Given the description of an element on the screen output the (x, y) to click on. 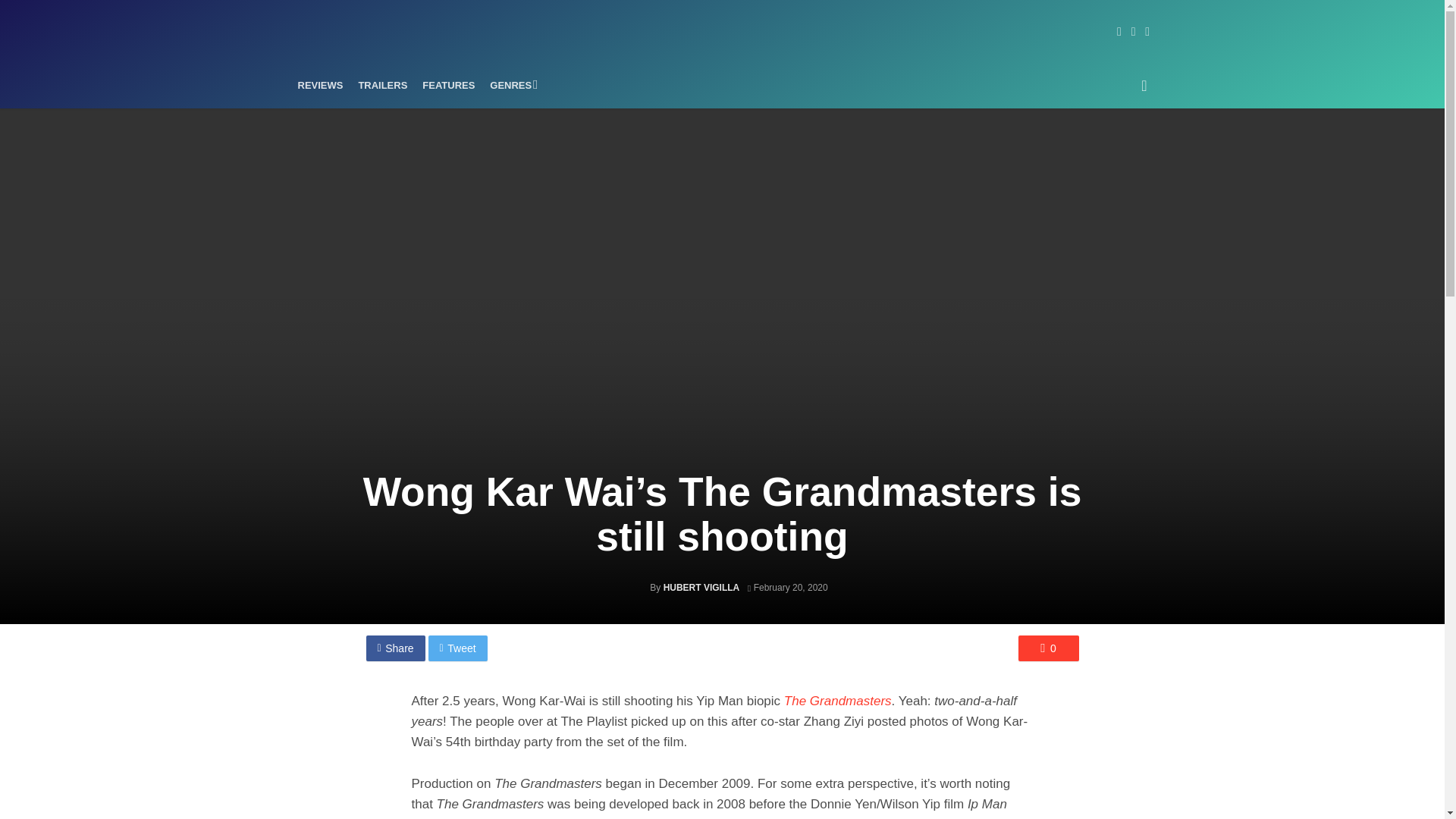
0 Comments (1047, 647)
Posts by Hubert Vigilla (701, 587)
February 20, 2020 at 1:13 pm (788, 587)
GENRES (511, 85)
Genres (511, 85)
FEATURES (447, 85)
Ip Man 3D (820, 818)
Share on Facebook (395, 647)
HUBERT VIGILLA (701, 587)
REVIEWS (319, 85)
